Given the description of an element on the screen output the (x, y) to click on. 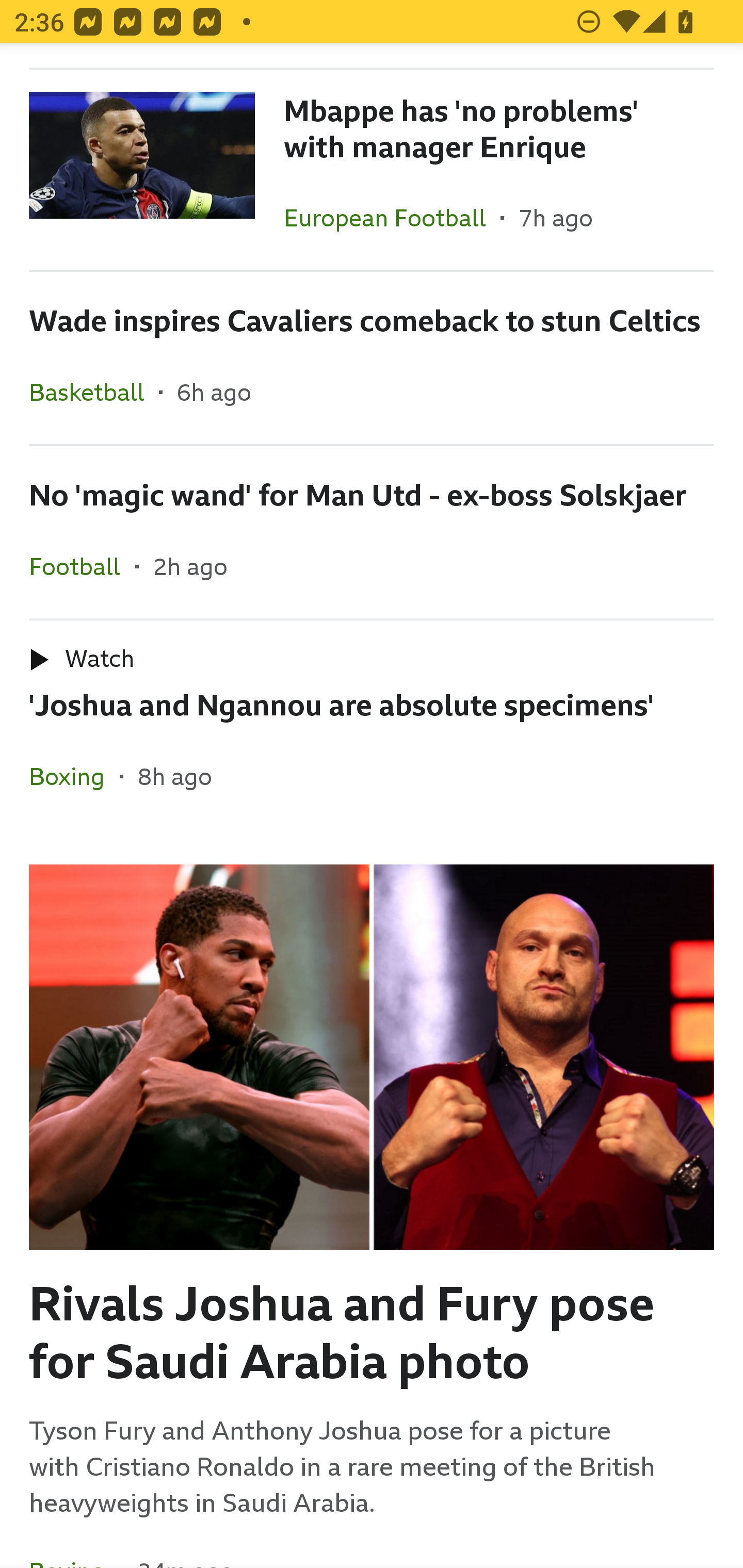
European Football In the section European Football (391, 217)
Basketball In the section Basketball (93, 391)
Football In the section Football (81, 565)
Boxing In the section Boxing (73, 775)
